Given the description of an element on the screen output the (x, y) to click on. 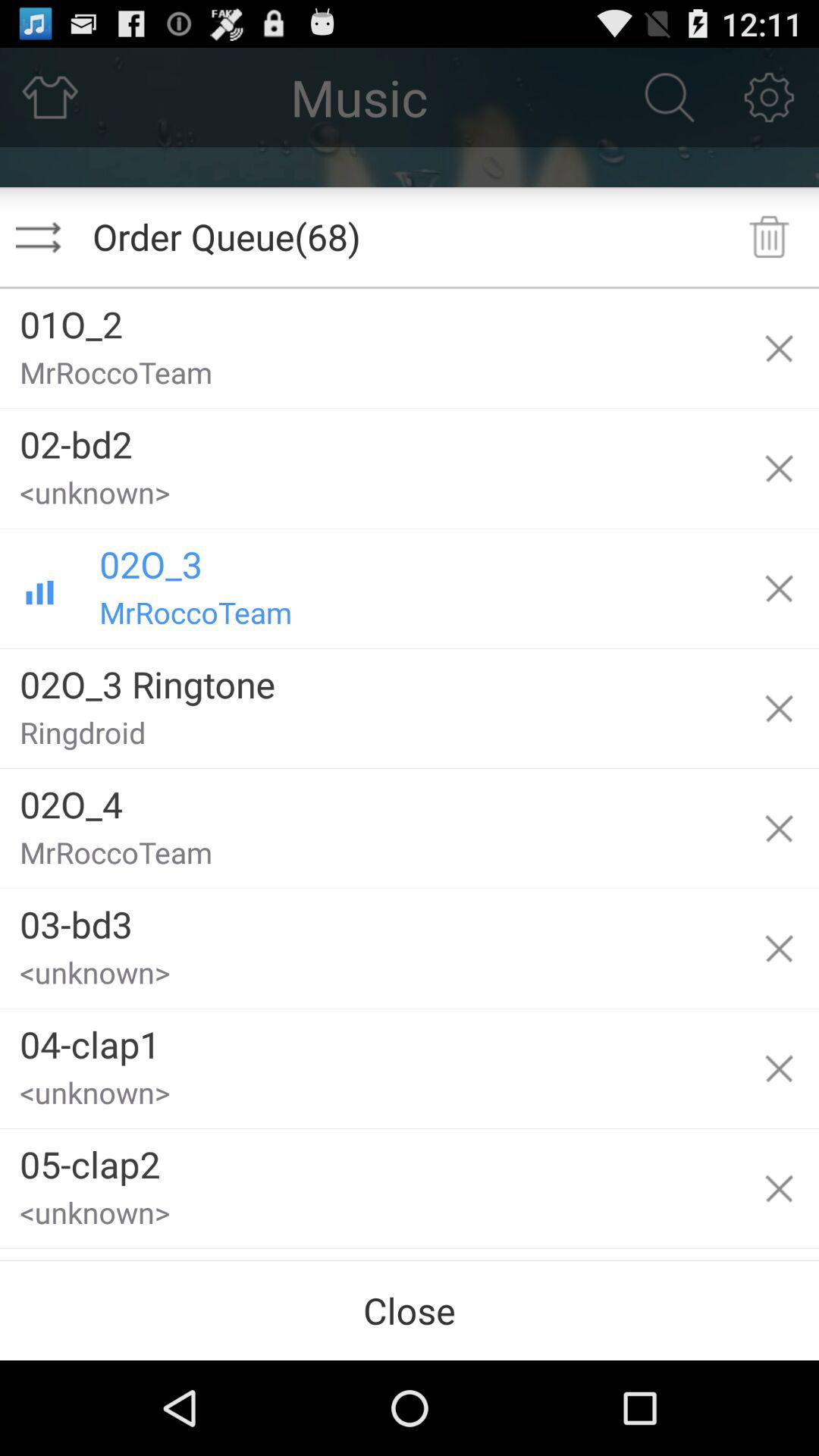
jump to 03-bd3 app (369, 918)
